Given the description of an element on the screen output the (x, y) to click on. 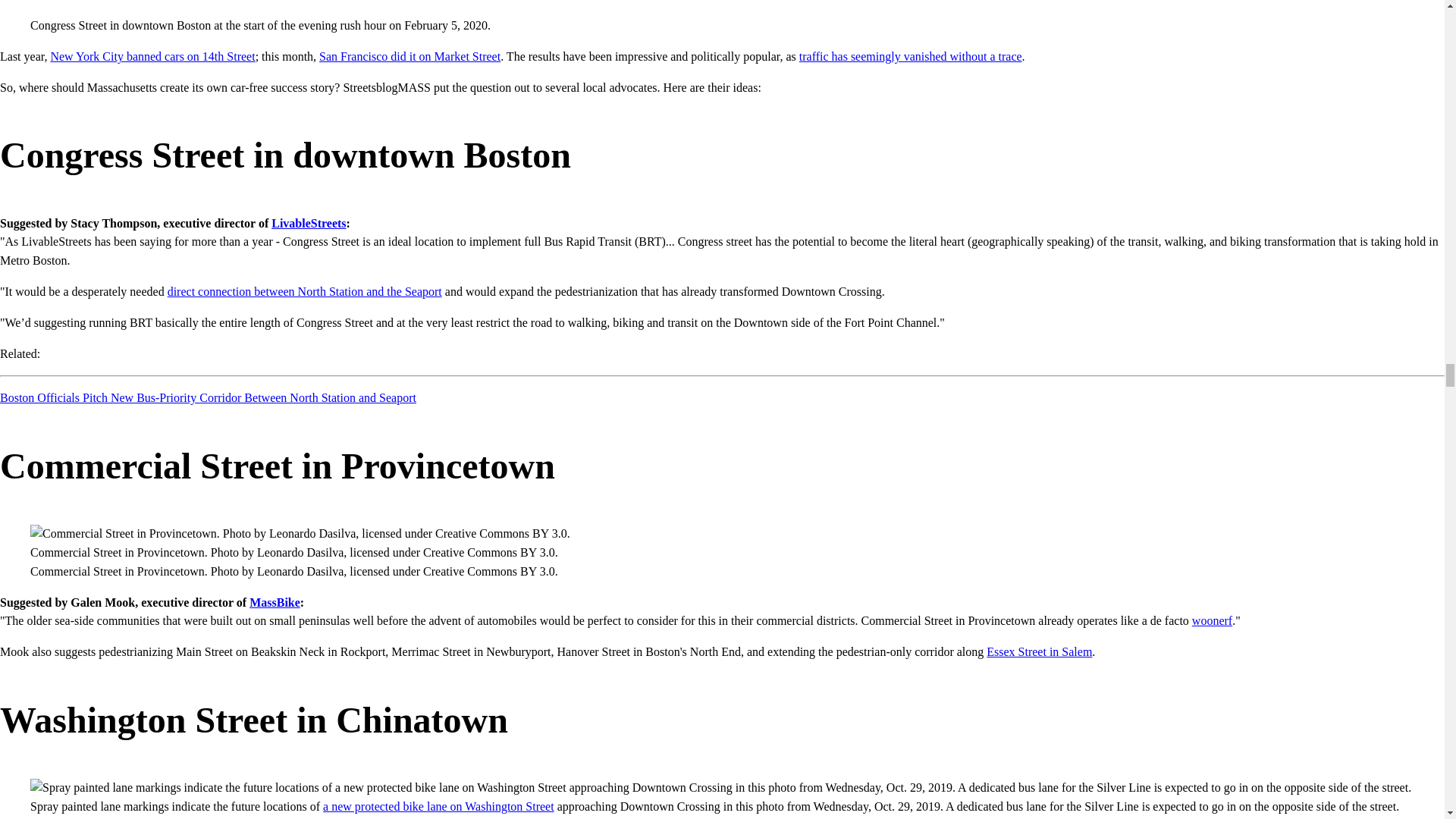
San Francisco did it on Market Street (409, 56)
New York City banned cars on 14th Street (151, 56)
traffic has seemingly vanished without a trace (910, 56)
